Given the description of an element on the screen output the (x, y) to click on. 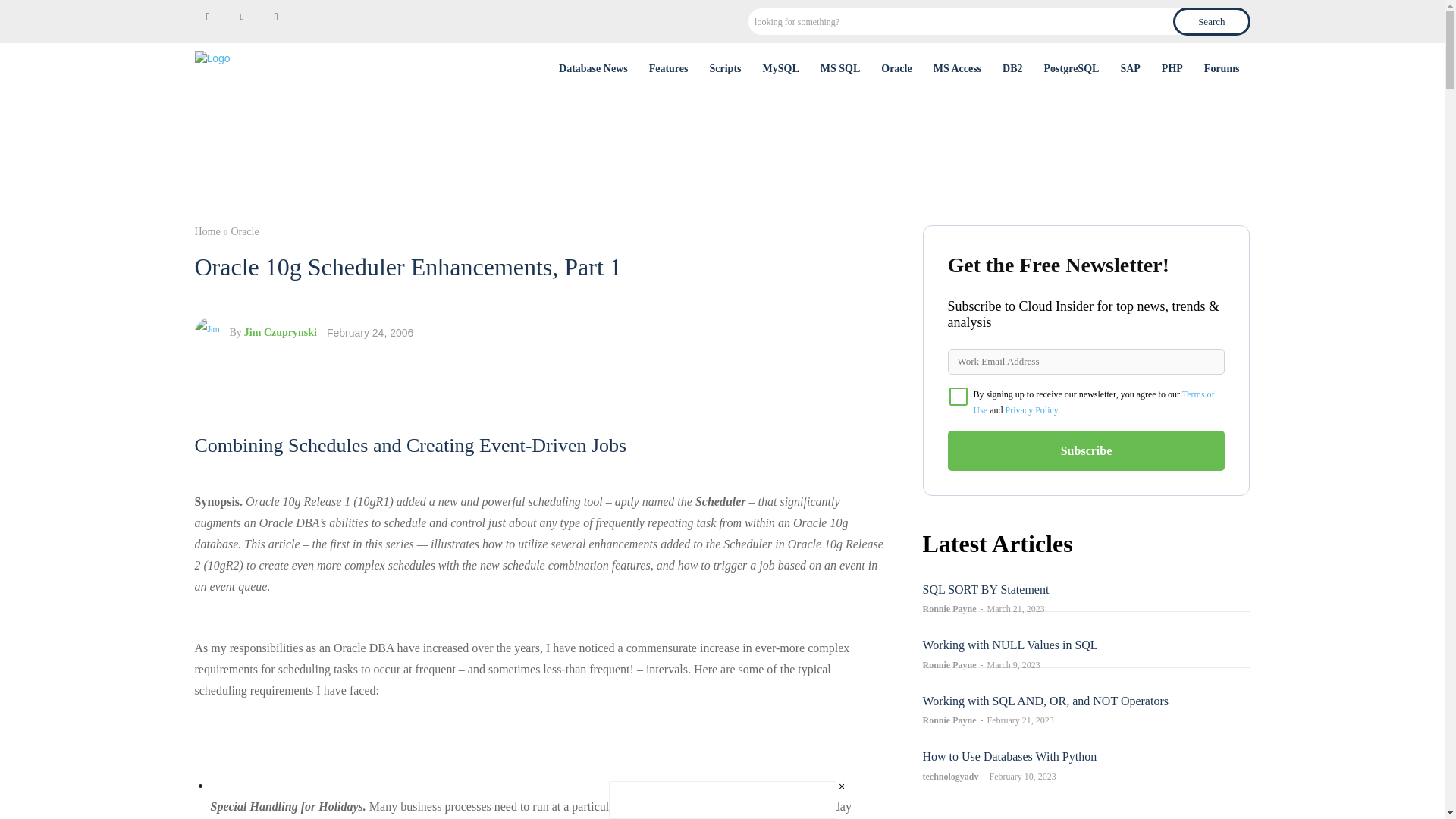
Search (1211, 21)
PostgreSQL (1071, 68)
MS Access (957, 68)
MySQL (780, 68)
Features (668, 68)
Scripts (725, 68)
DB2 (1011, 68)
Jim Czuprynski (210, 332)
on (958, 396)
SAP (1129, 68)
